Given the description of an element on the screen output the (x, y) to click on. 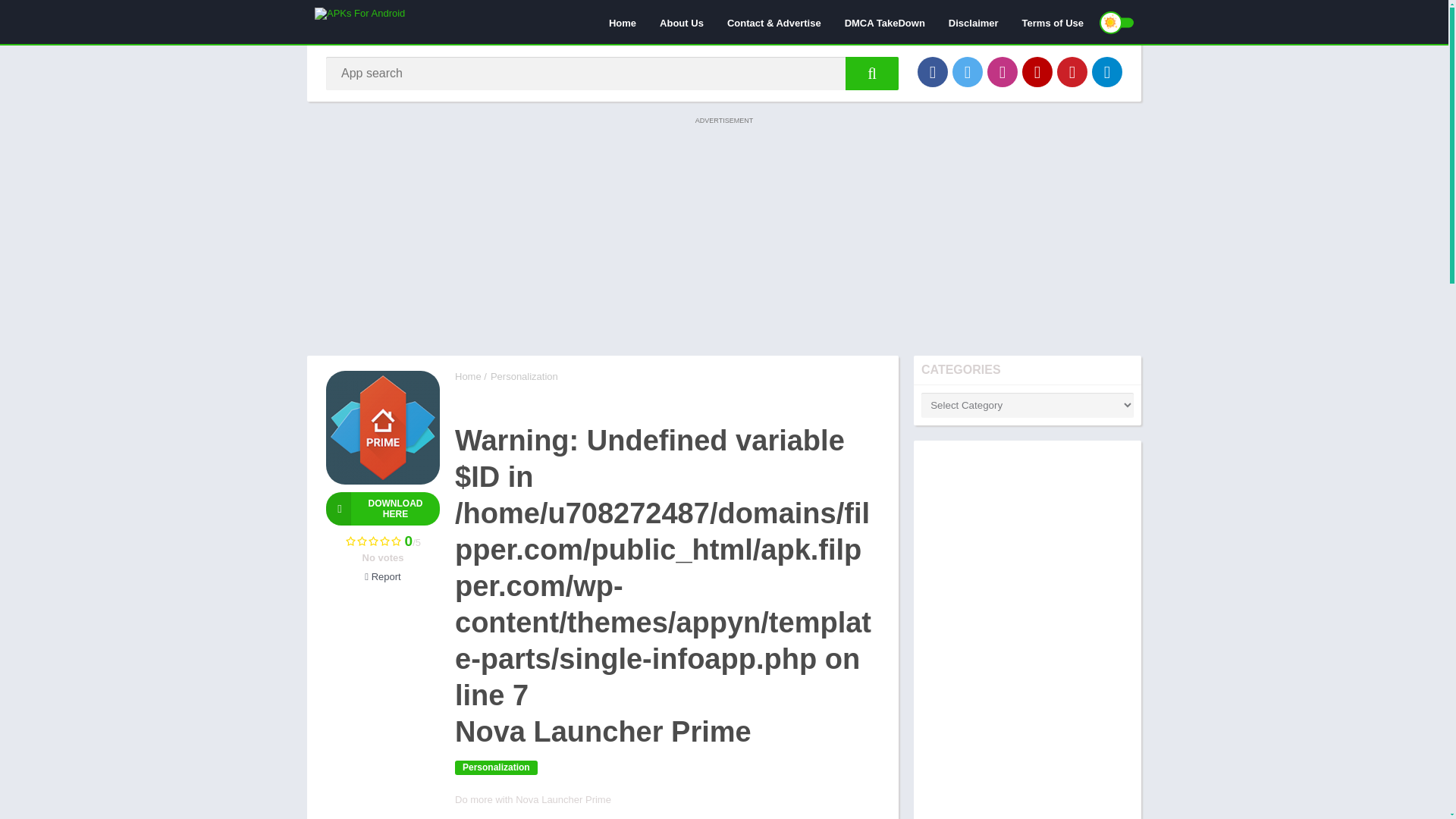
APKs For Android (467, 376)
About Us (680, 22)
Download Here (382, 508)
Personalization (523, 376)
Home (621, 22)
Personalization (495, 767)
Pinterest (1072, 71)
Instagram (1002, 71)
Report (382, 576)
DMCA TakeDown (884, 22)
Facebook (932, 71)
YouTube (1037, 71)
Terms of Use (1052, 22)
Twitter (967, 71)
